Given the description of an element on the screen output the (x, y) to click on. 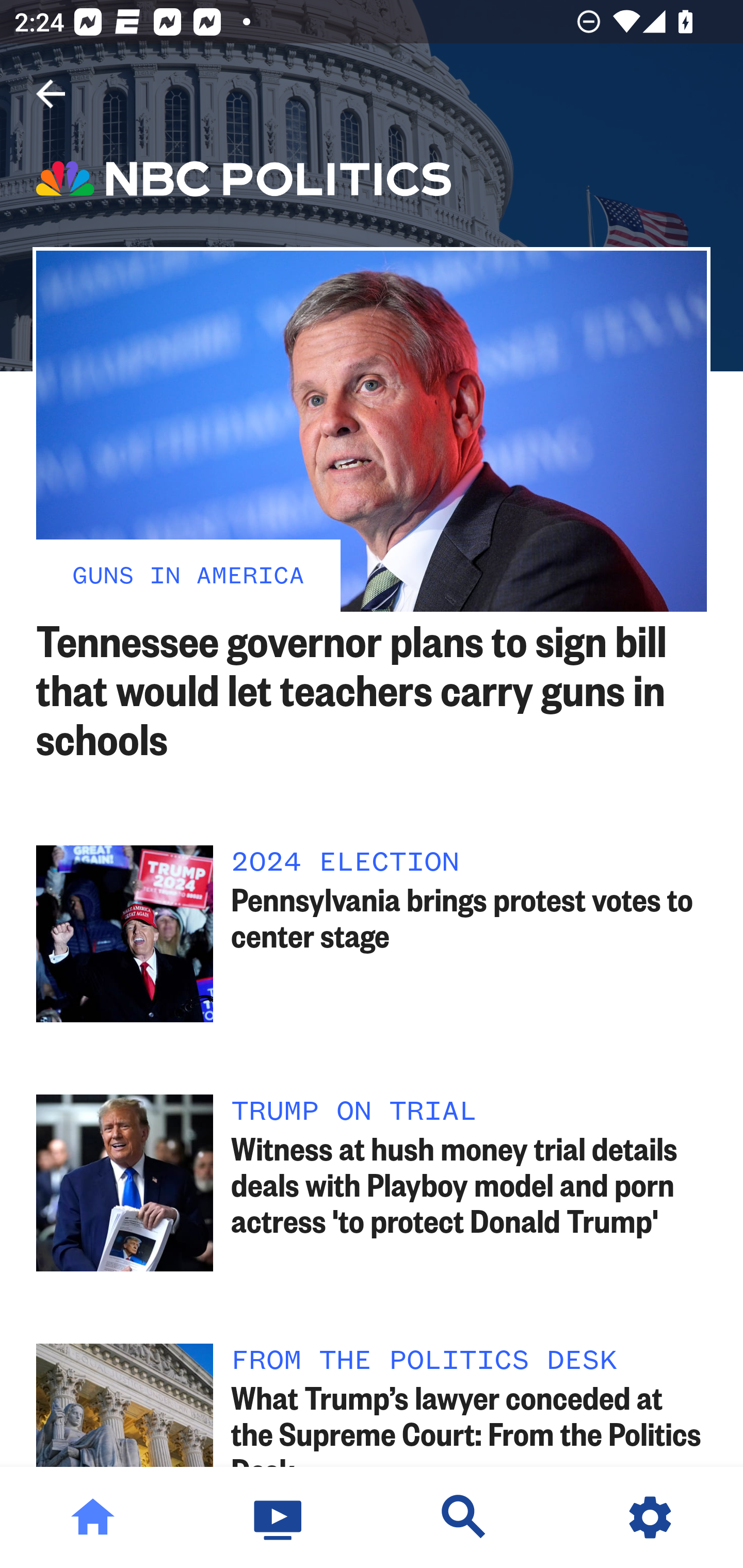
Navigate up (50, 93)
Watch (278, 1517)
Discover (464, 1517)
Settings (650, 1517)
